Given the description of an element on the screen output the (x, y) to click on. 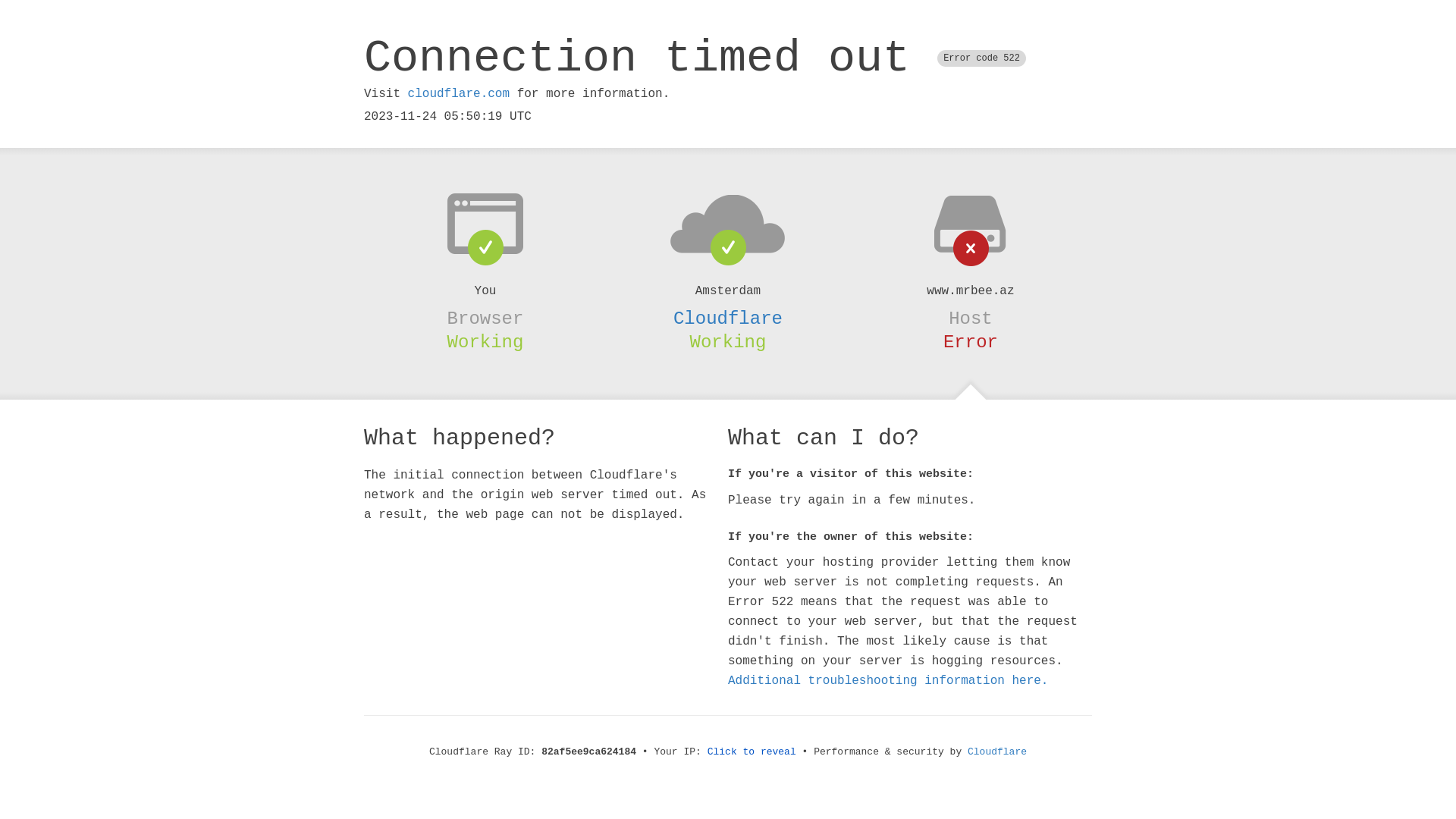
Cloudflare Element type: text (996, 751)
cloudflare.com Element type: text (458, 93)
Additional troubleshooting information here. Element type: text (888, 680)
Cloudflare Element type: text (727, 318)
Click to reveal Element type: text (751, 751)
